Given the description of an element on the screen output the (x, y) to click on. 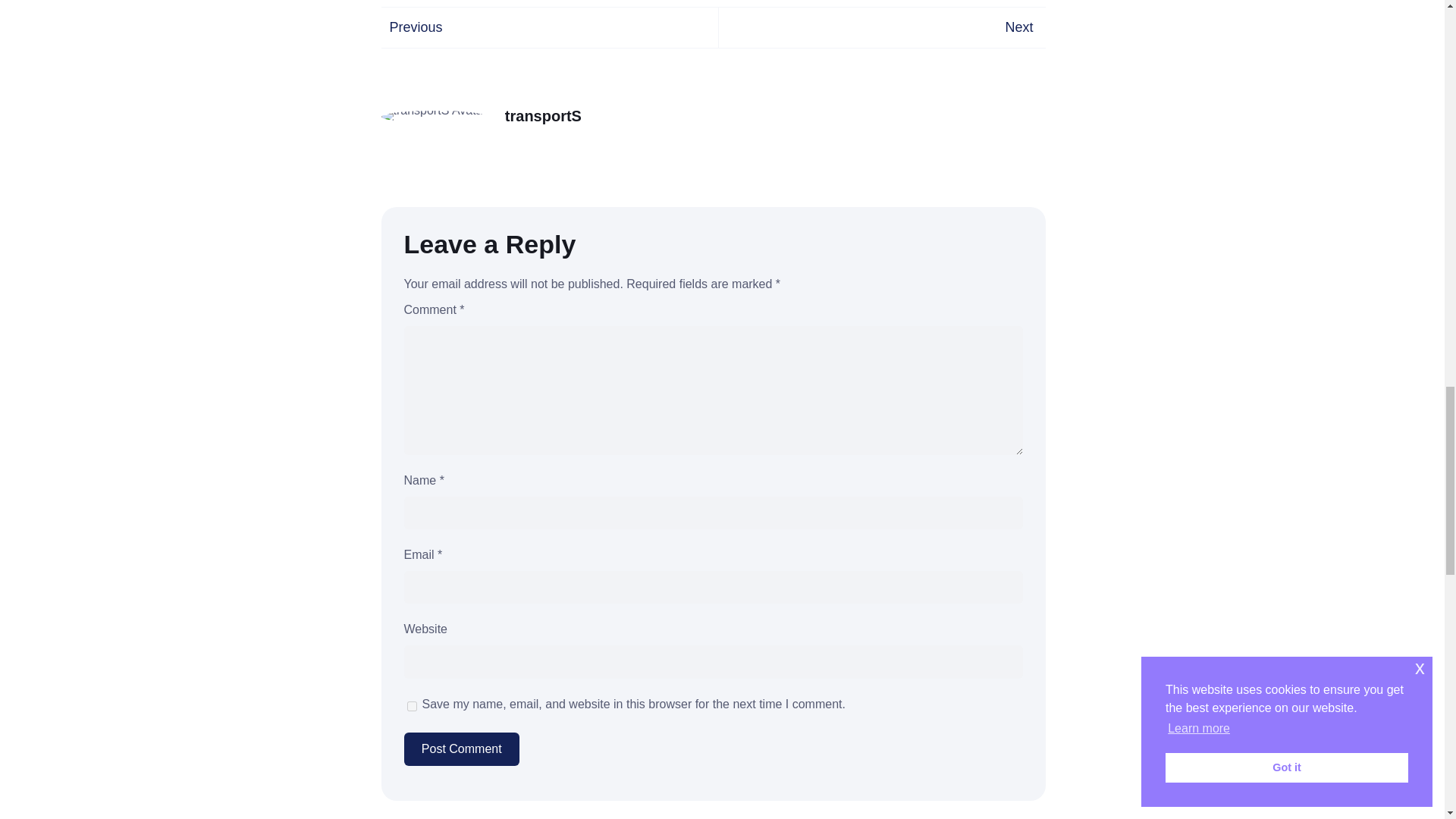
yes (411, 706)
Previous (416, 27)
Post Comment (460, 748)
Post Comment (460, 748)
Next (1018, 27)
